Given the description of an element on the screen output the (x, y) to click on. 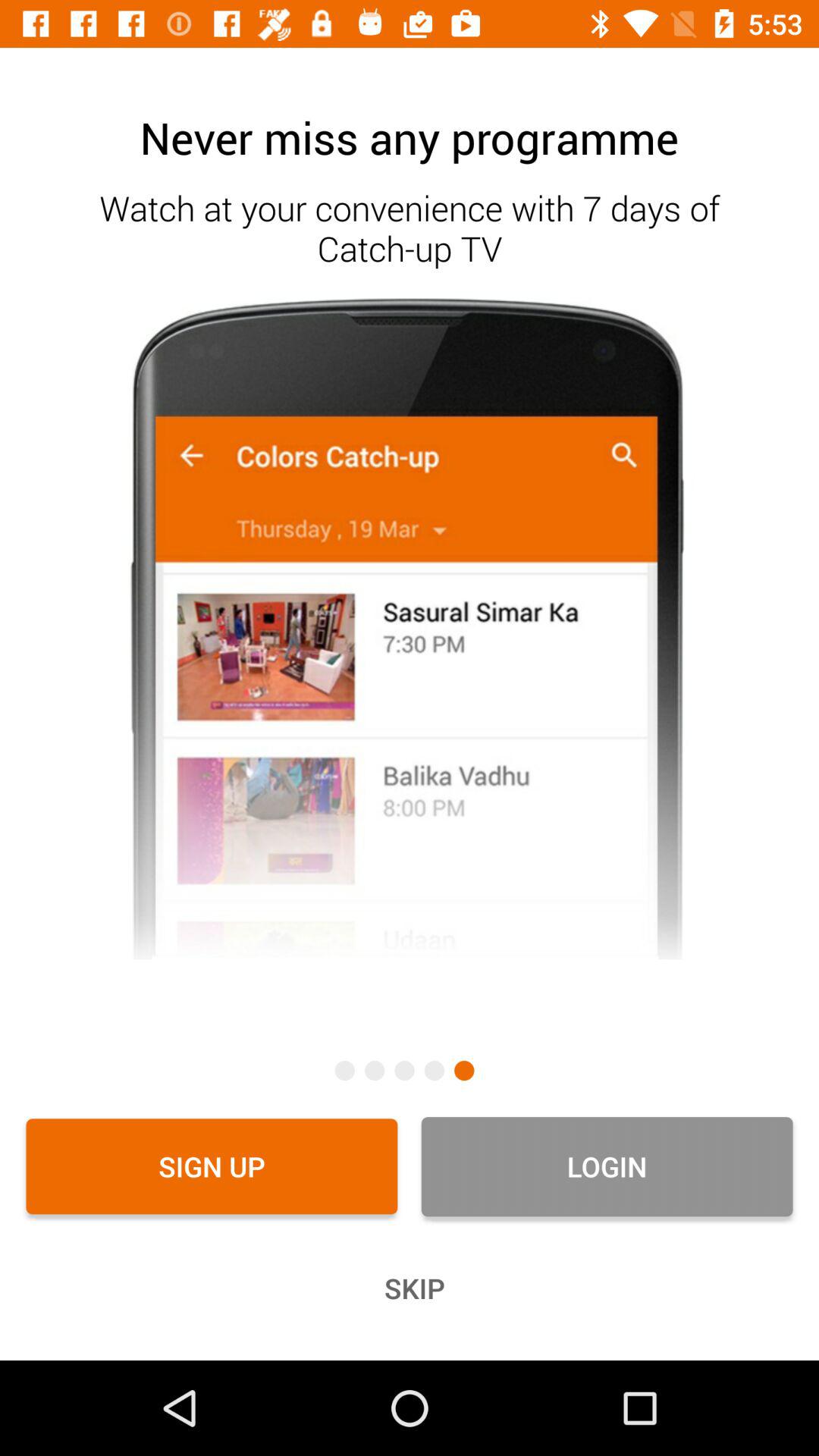
turn on the skip (409, 1288)
